Given the description of an element on the screen output the (x, y) to click on. 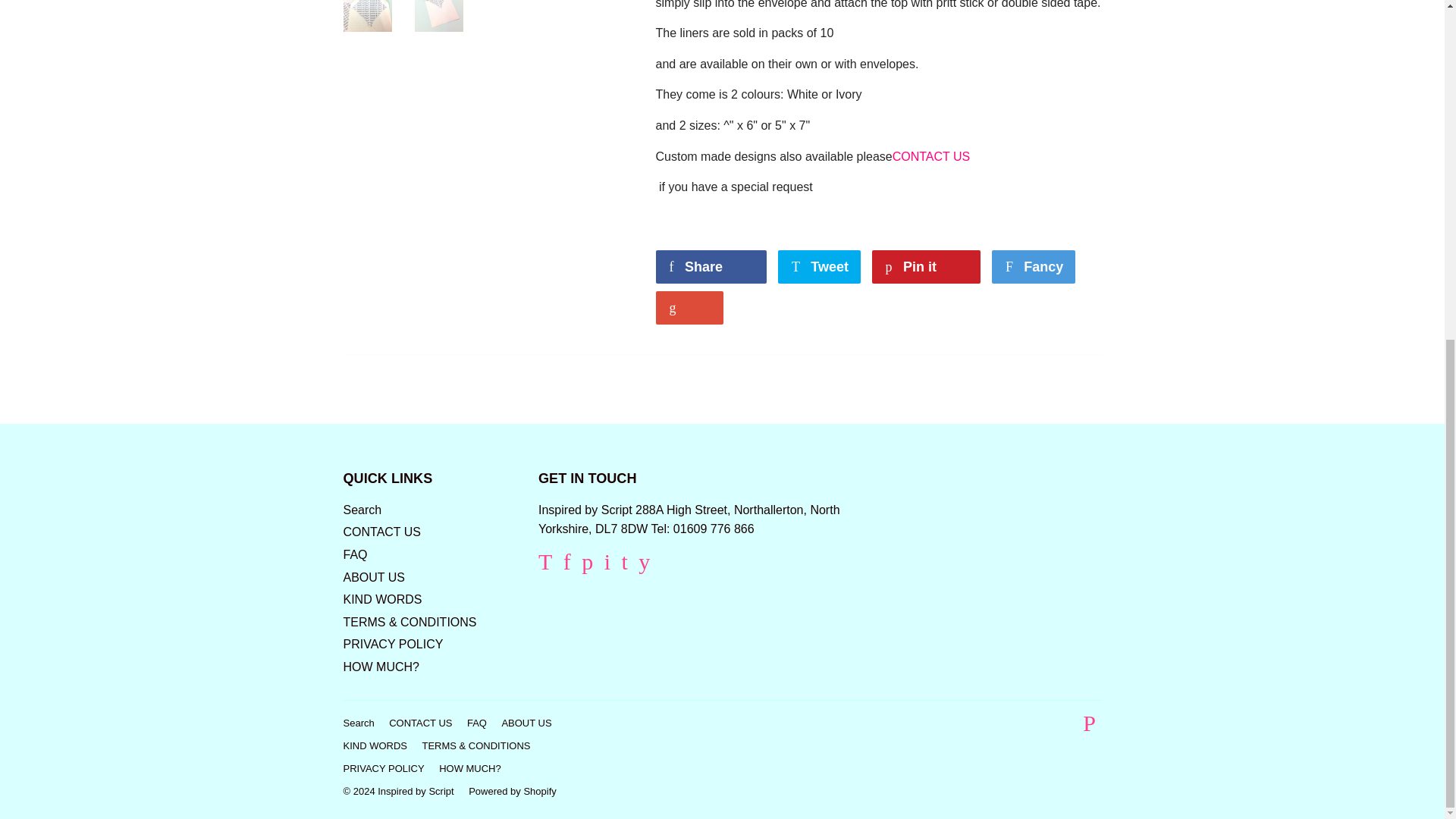
Inspired by Script on Twitter (544, 564)
